Given the description of an element on the screen output the (x, y) to click on. 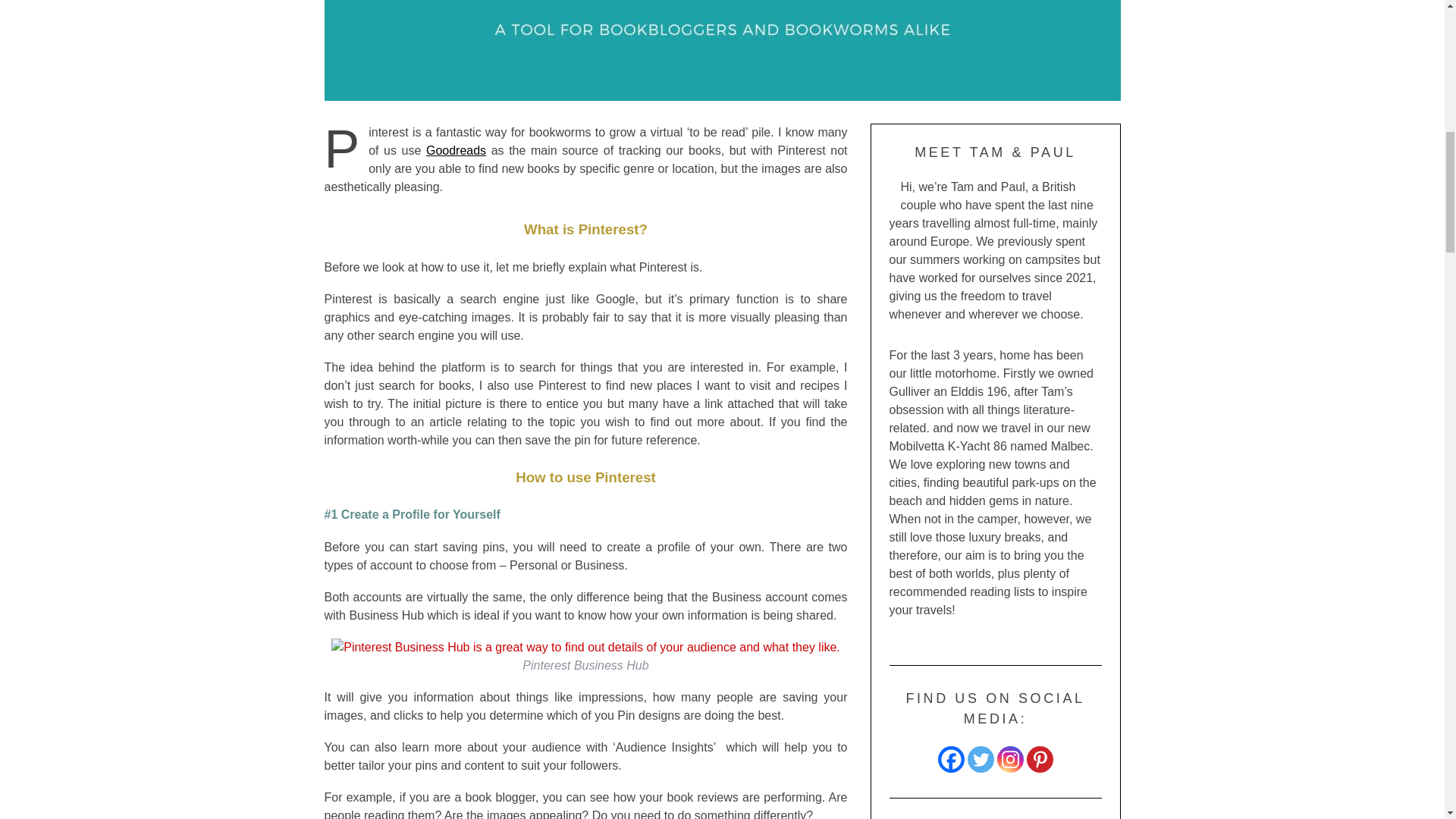
Pinterest (1039, 759)
Twitter (981, 759)
Facebook (950, 759)
Instagram (1009, 759)
